Given the description of an element on the screen output the (x, y) to click on. 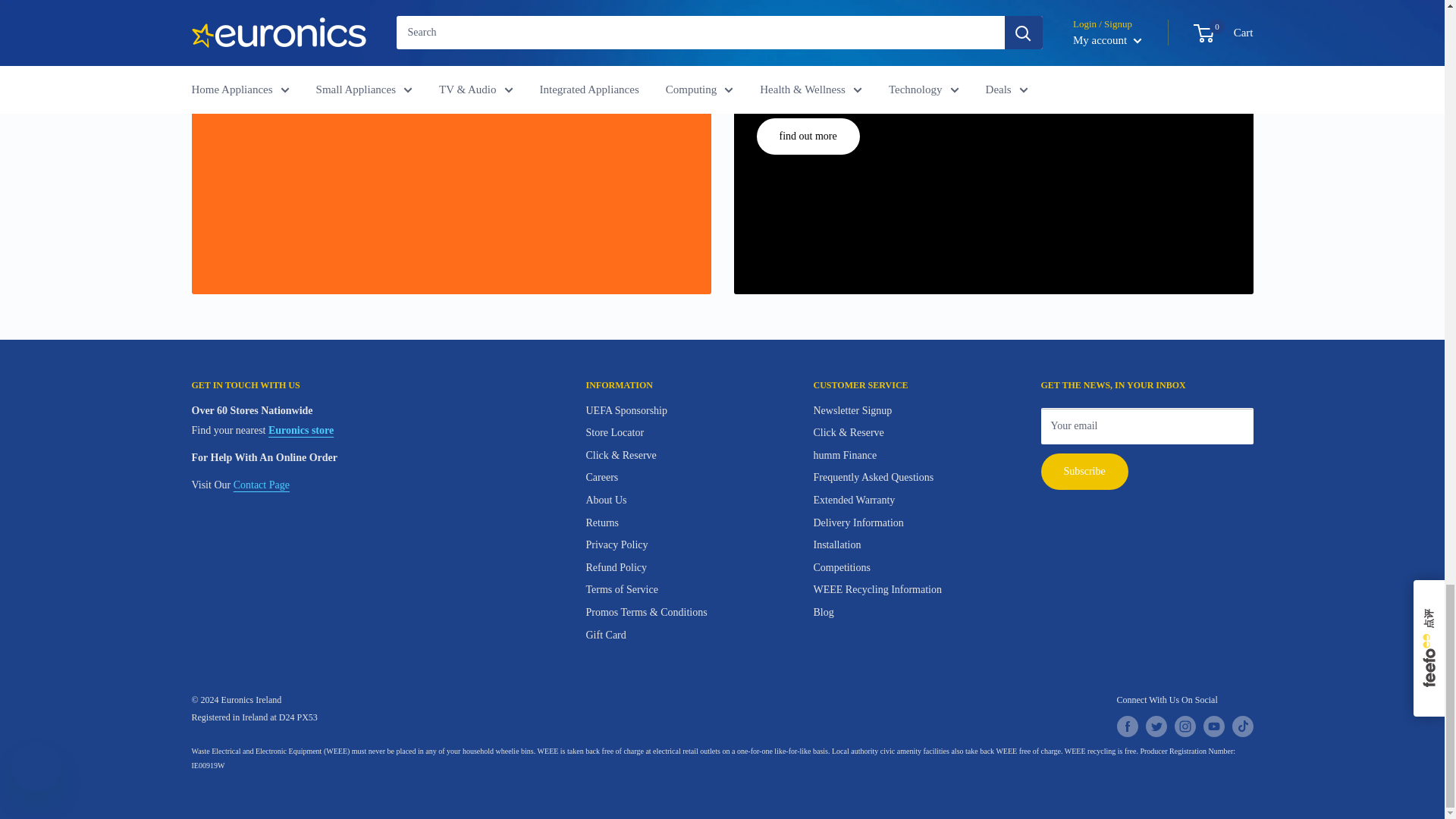
Store Locator (300, 430)
